Given the description of an element on the screen output the (x, y) to click on. 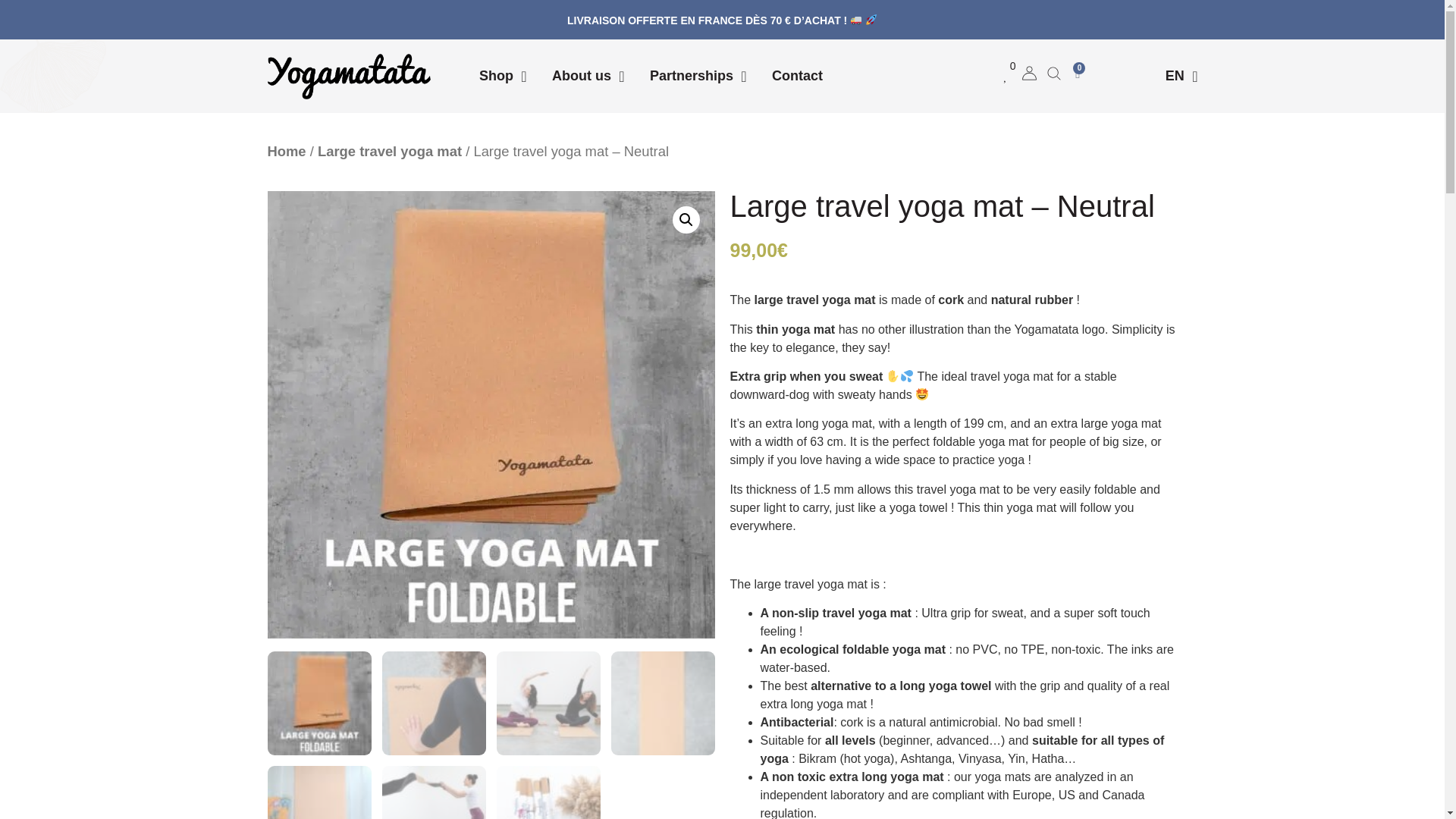
EN (1175, 76)
About us (581, 76)
0 (1077, 73)
Contact (796, 76)
En (1175, 76)
0 (1009, 76)
Shop (496, 76)
Partnerships (691, 76)
